Given the description of an element on the screen output the (x, y) to click on. 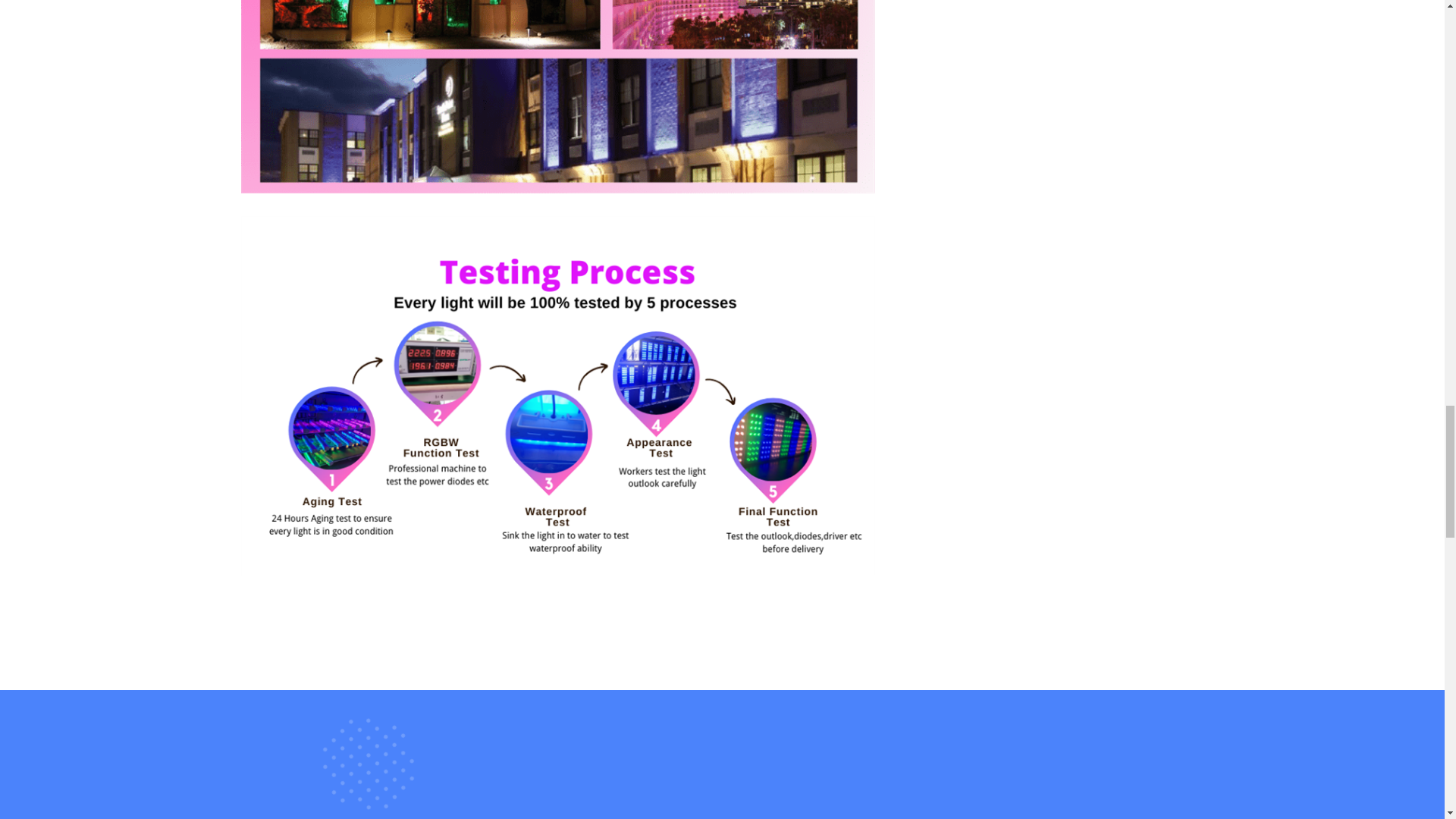
1684481164482598.png (558, 96)
